Given the description of an element on the screen output the (x, y) to click on. 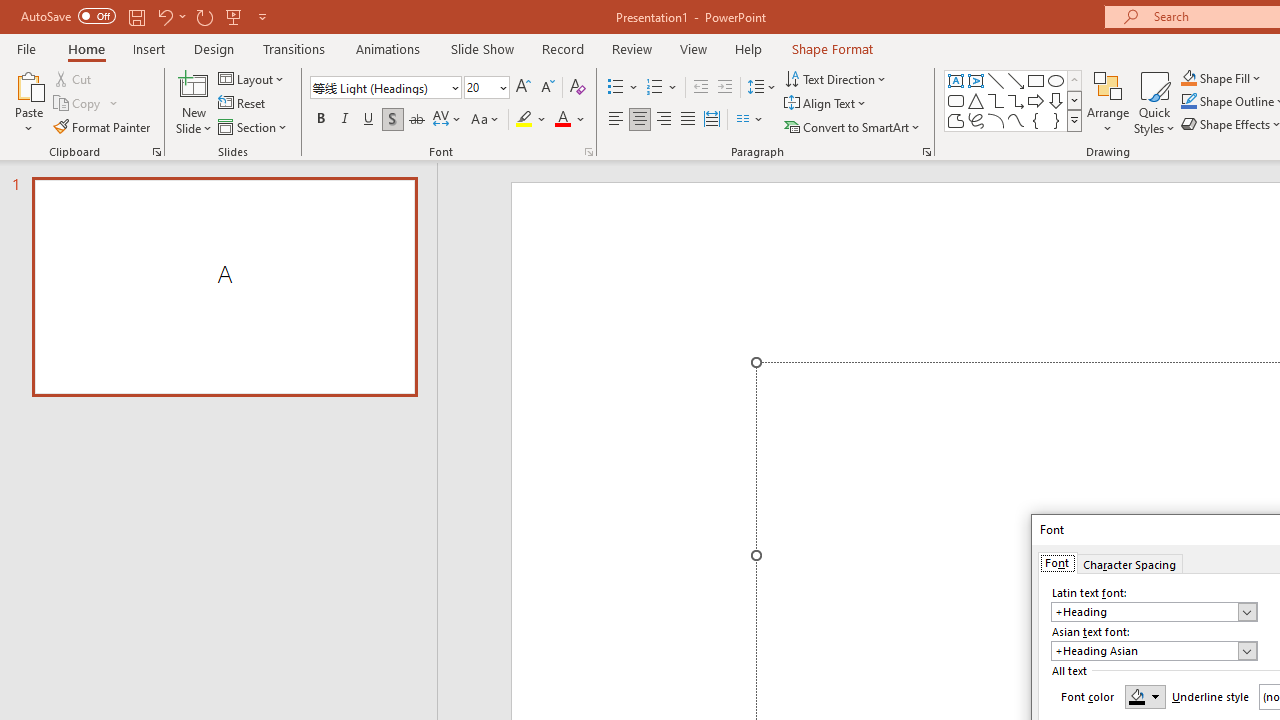
Arc (995, 120)
Numbering (661, 87)
